Given the description of an element on the screen output the (x, y) to click on. 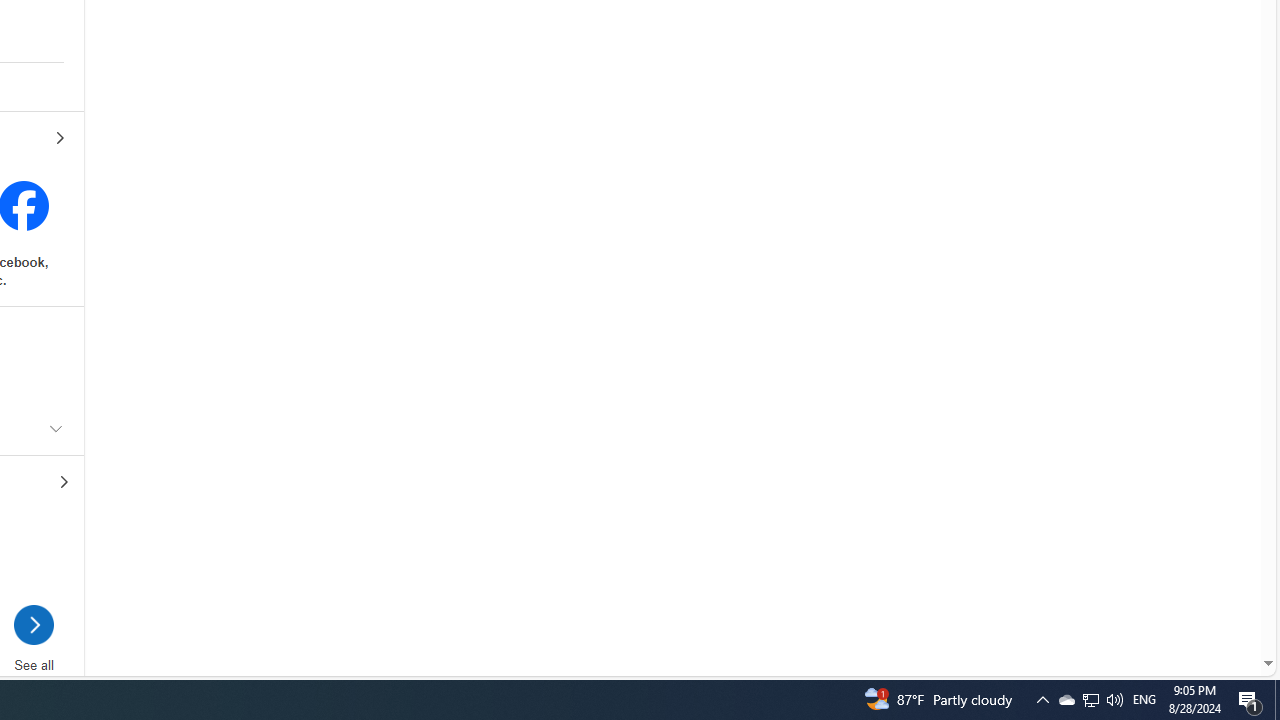
See all See all (33, 647)
See all (33, 630)
AutomationID: mfa_root (1192, 603)
Search more (1222, 604)
